Given the description of an element on the screen output the (x, y) to click on. 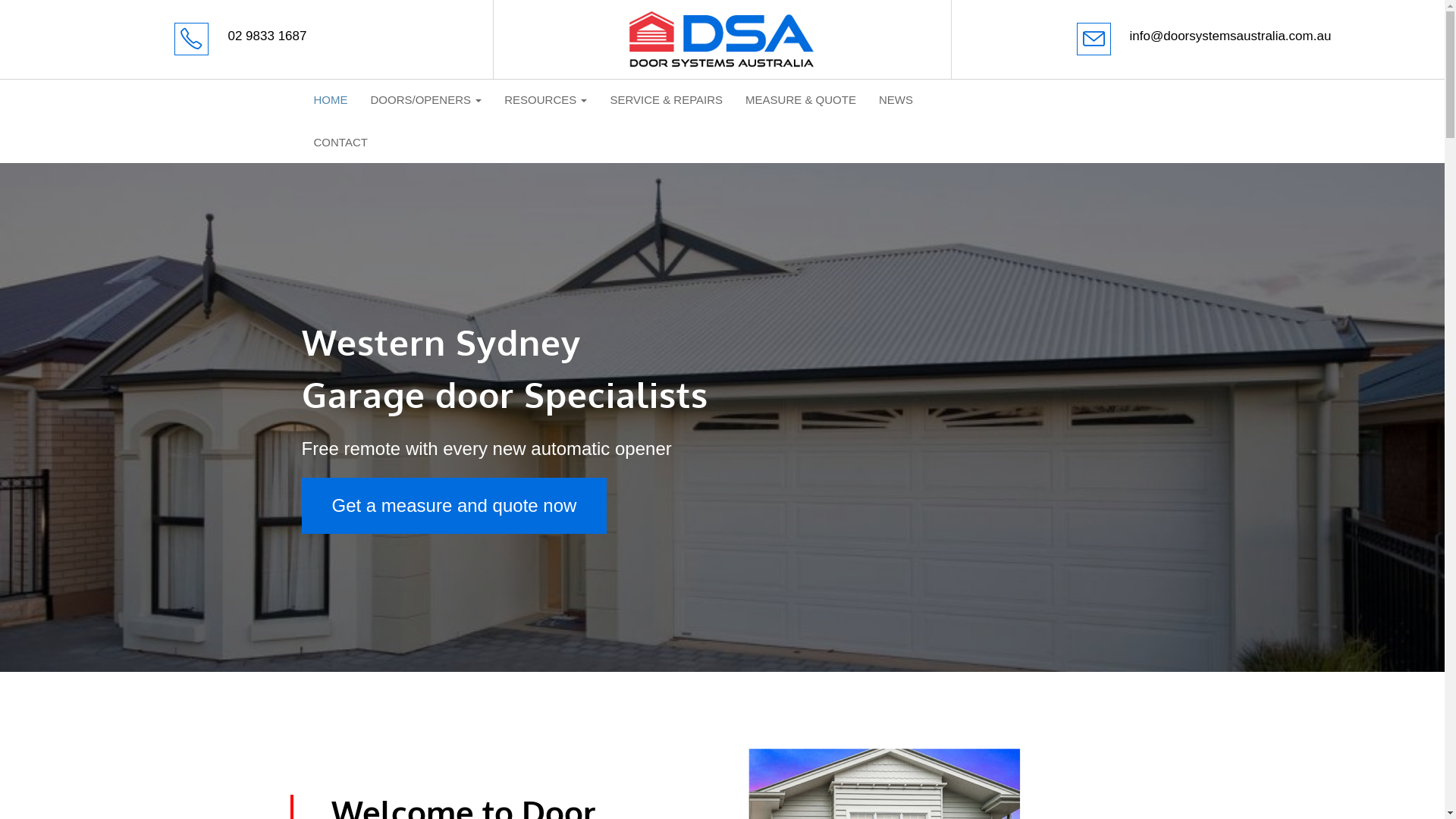
HOME Element type: text (329, 99)
DOORS/OPENERS Element type: text (426, 99)
RESOURCES Element type: text (545, 99)
CONTACT Element type: text (339, 142)
Get a measure and quote now Element type: text (454, 505)
SERVICE & REPAIRS Element type: text (666, 99)
NEWS Element type: text (895, 99)
MEASURE & QUOTE Element type: text (800, 99)
